Given the description of an element on the screen output the (x, y) to click on. 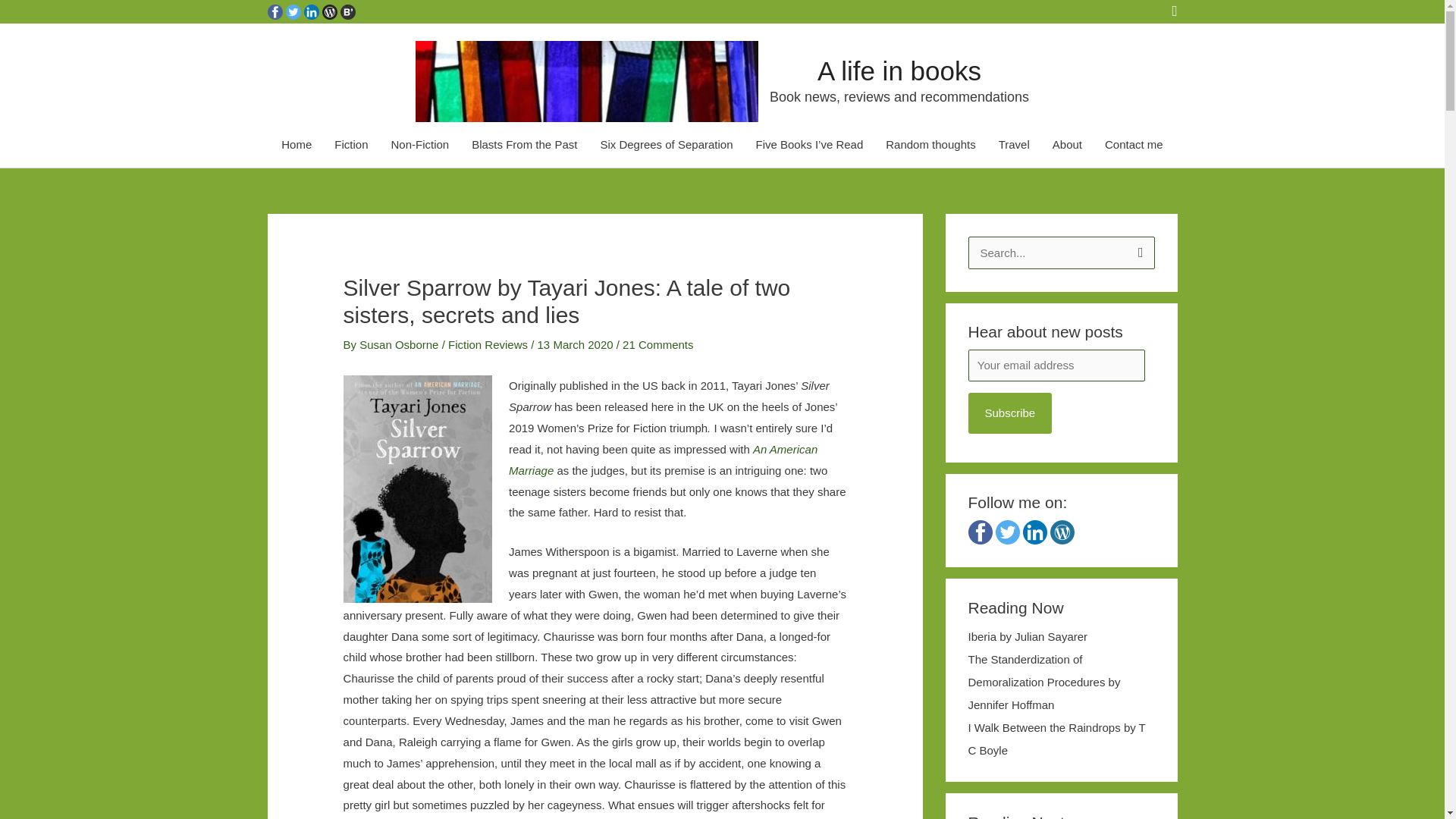
View all posts by Susan Osborne (400, 344)
Follow Me on Facebook (274, 10)
Fiction Reviews (487, 344)
A life in books (898, 70)
Travel (1014, 144)
About (1067, 144)
Susan Osborne (400, 344)
Contact me (1133, 144)
21 Comments (658, 344)
Search (1137, 251)
Follow Me on Wordpress.com (329, 10)
Follow Me on Bloglovin' (347, 10)
Six Degrees of Separation (666, 144)
Follow Me on LinkedIn (311, 10)
Non-Fiction (419, 144)
